Given the description of an element on the screen output the (x, y) to click on. 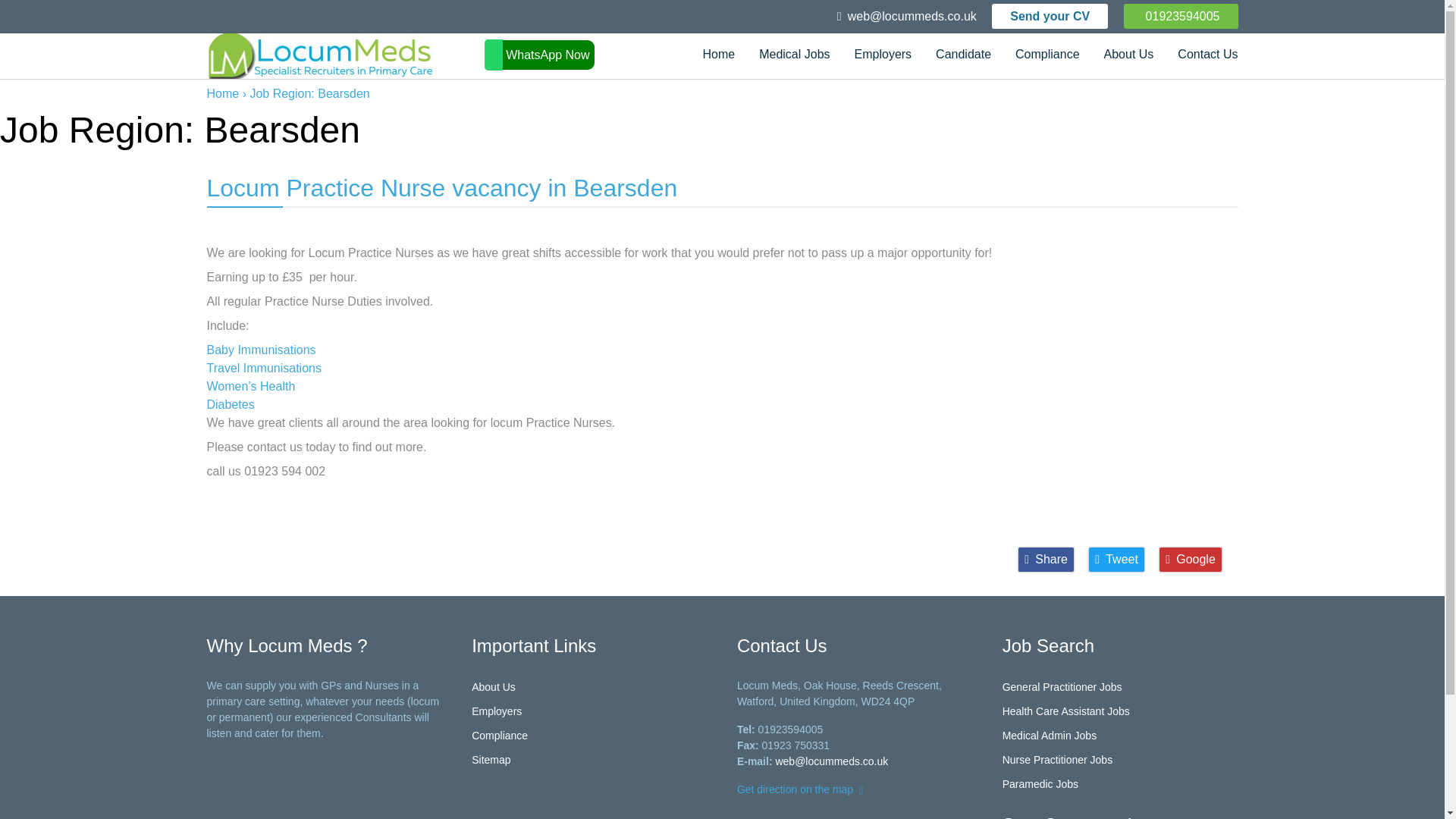
Home (718, 55)
Paramedic Jobs (1040, 784)
Candidate (963, 55)
Nurse Practitioner Jobs (1058, 759)
Get direction on the map (802, 788)
WhatsApp Now (539, 54)
General Practitioner Jobs (1062, 686)
About Us (1129, 55)
Medical Admin Jobs (1050, 735)
Employers (883, 55)
Share (1045, 559)
Compliance (1046, 55)
Locum Practice Nurse vacancy in Bearsden (441, 187)
Employers (496, 711)
Tweet (1116, 559)
